Given the description of an element on the screen output the (x, y) to click on. 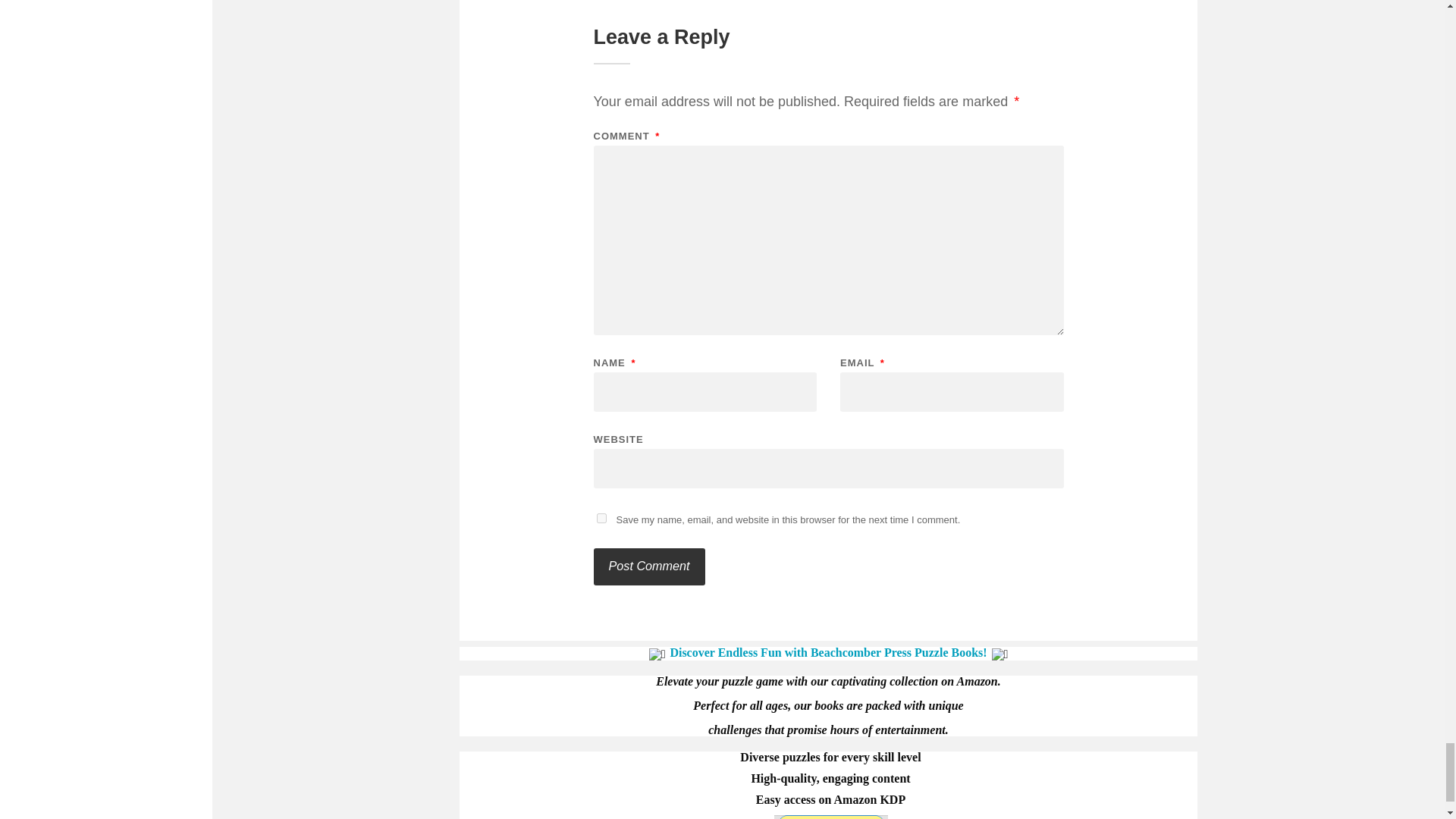
Post Comment (648, 566)
yes (600, 518)
